Given the description of an element on the screen output the (x, y) to click on. 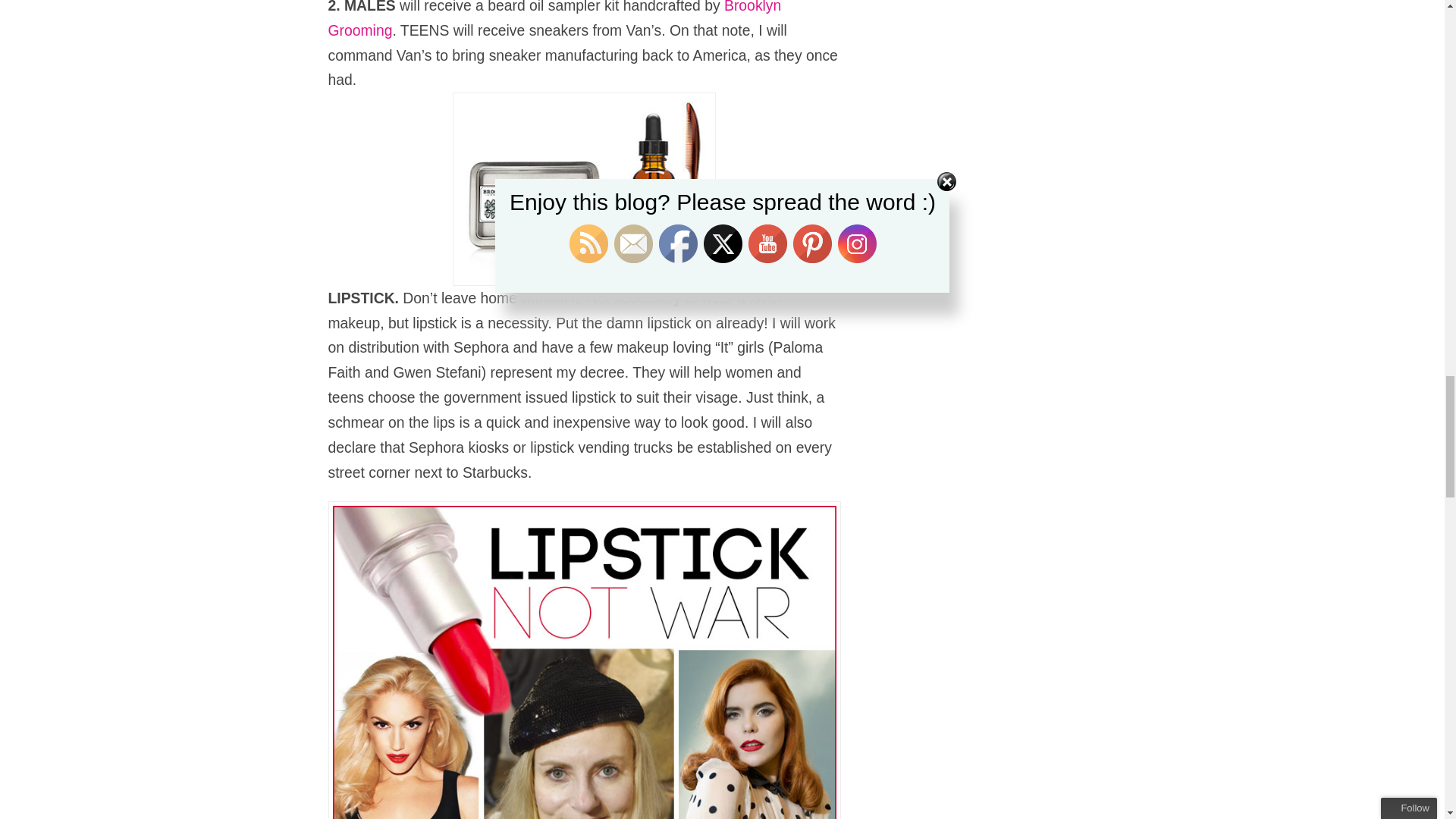
Brooklyn Grooming (553, 19)
Brooklyn Grooming (553, 19)
